Given the description of an element on the screen output the (x, y) to click on. 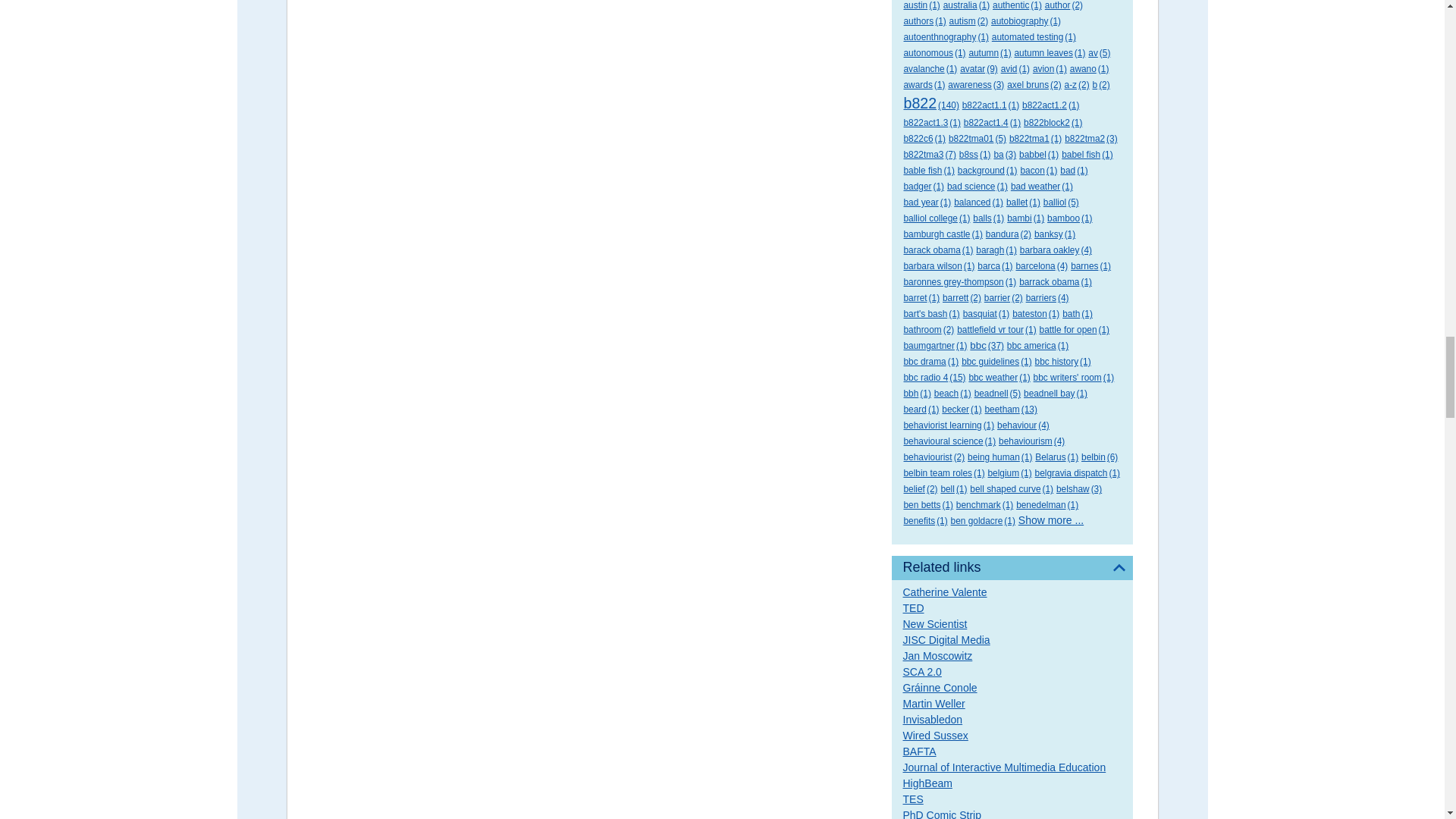
Related links (1011, 567)
